Given the description of an element on the screen output the (x, y) to click on. 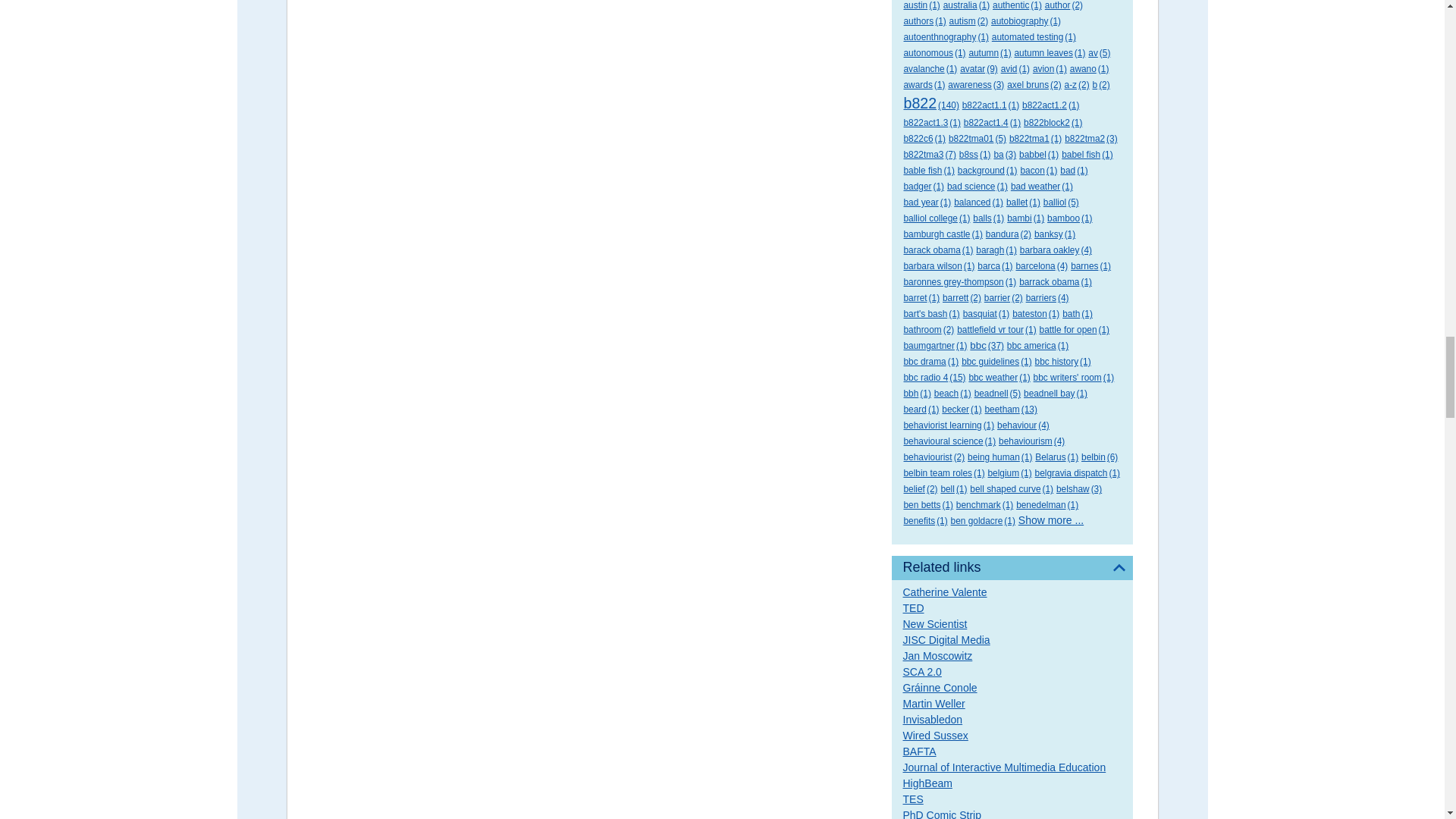
Related links (1011, 567)
